Given the description of an element on the screen output the (x, y) to click on. 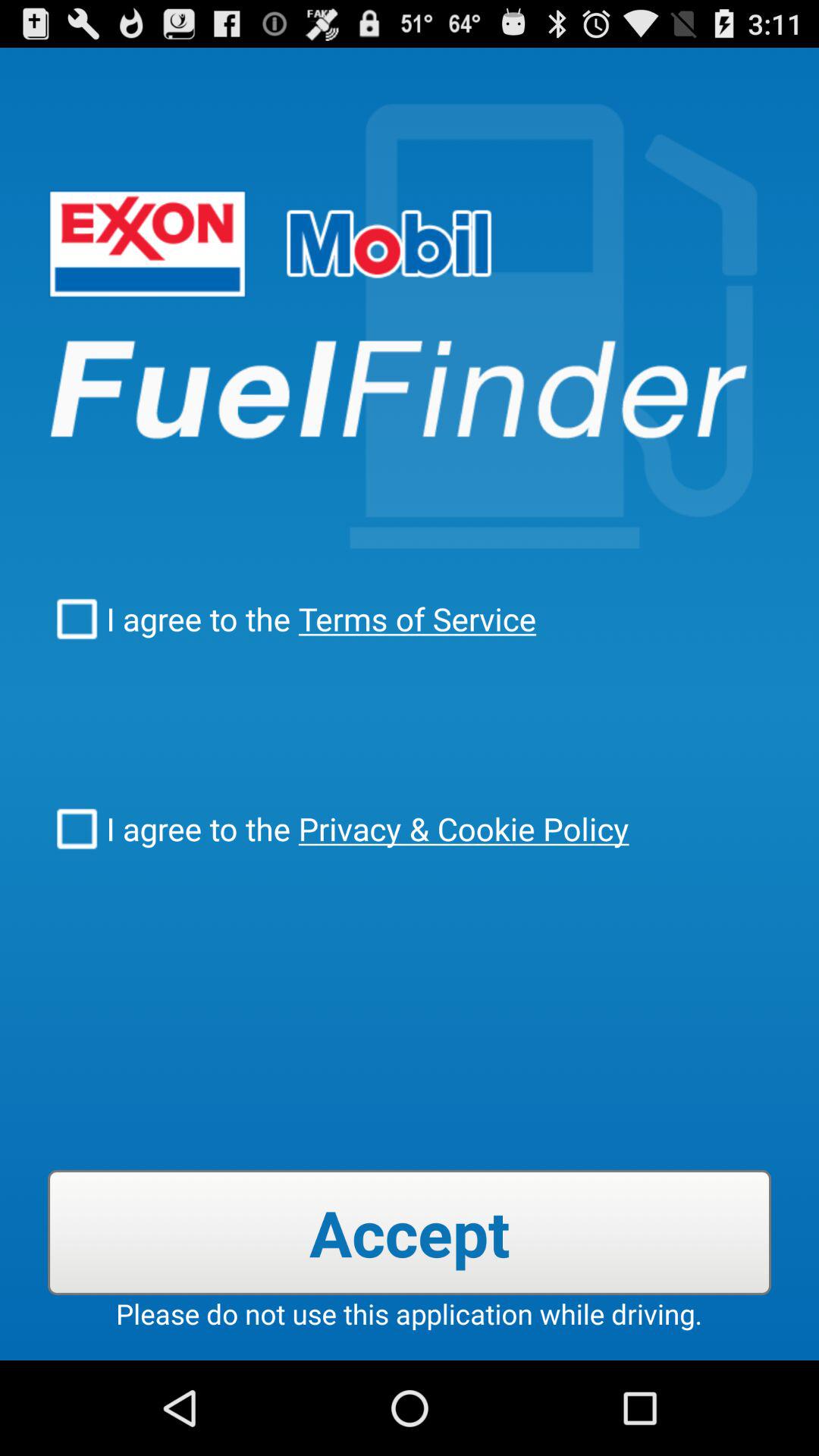
select item to the right of the i agree to checkbox (459, 828)
